Given the description of an element on the screen output the (x, y) to click on. 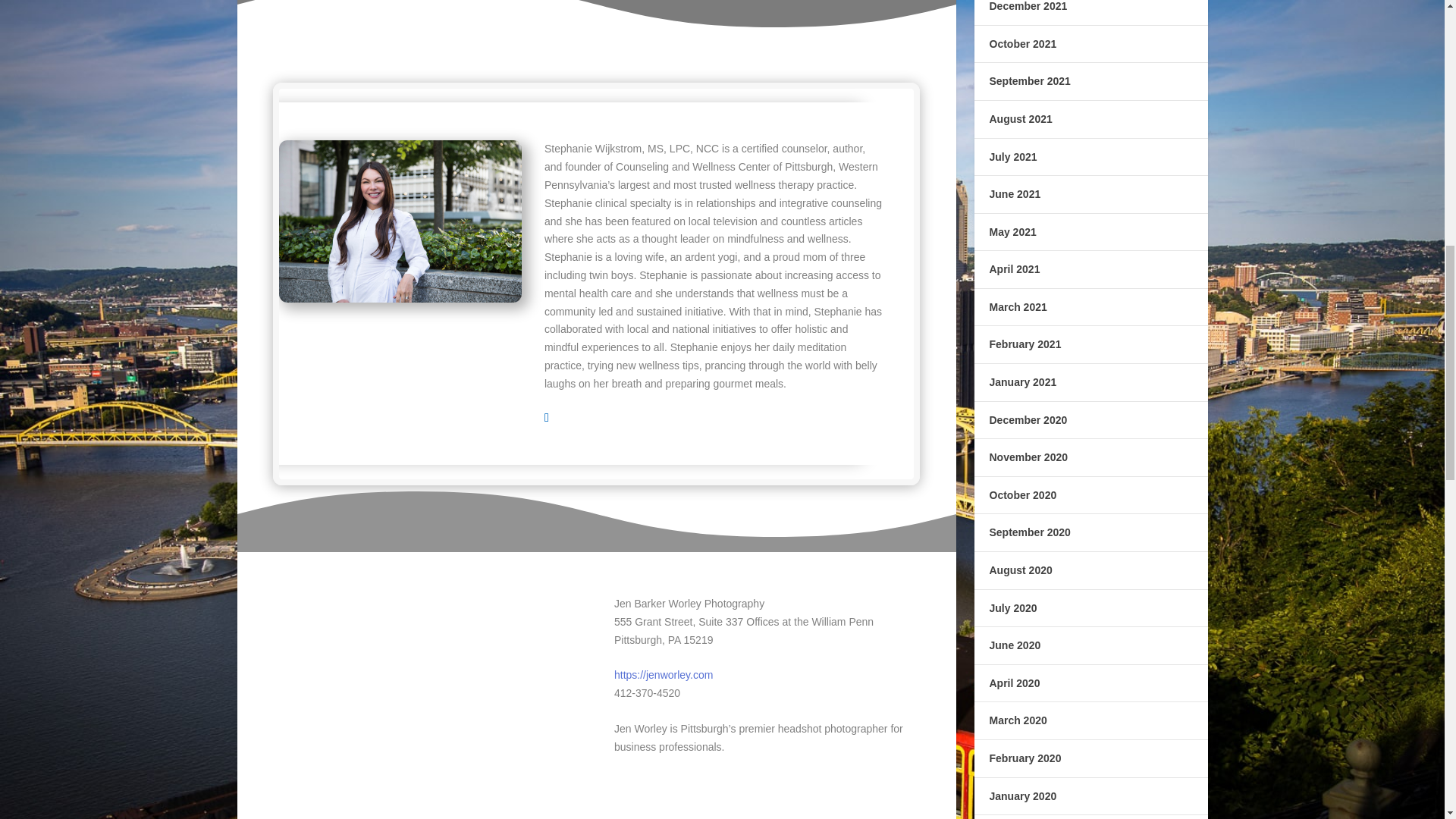
Counseling and Wellness Center of Pittsburgh (723, 166)
